Given the description of an element on the screen output the (x, y) to click on. 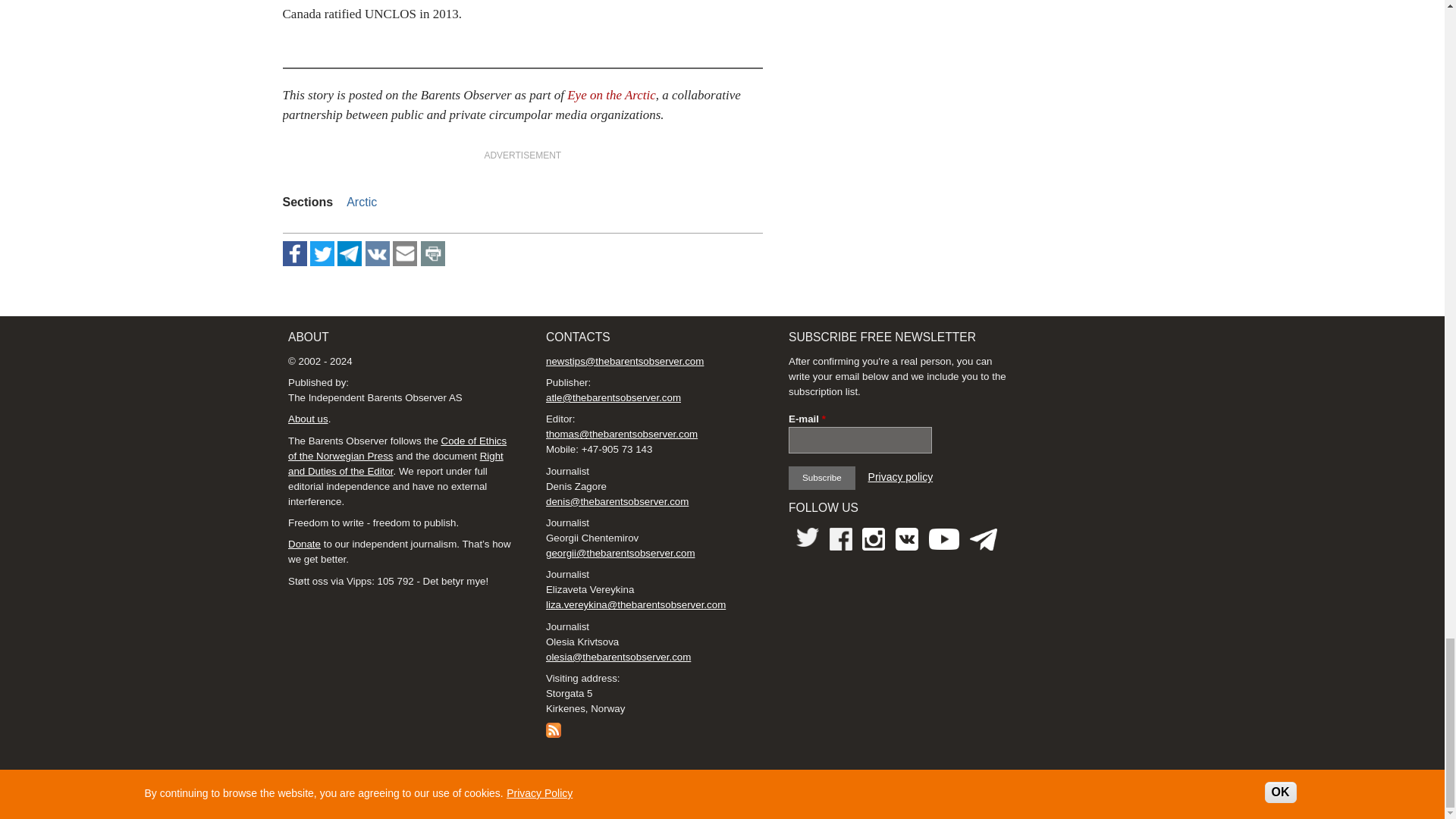
Arctic (361, 201)
Eye on the Arctic (611, 94)
Subscribe (822, 477)
